Given the description of an element on the screen output the (x, y) to click on. 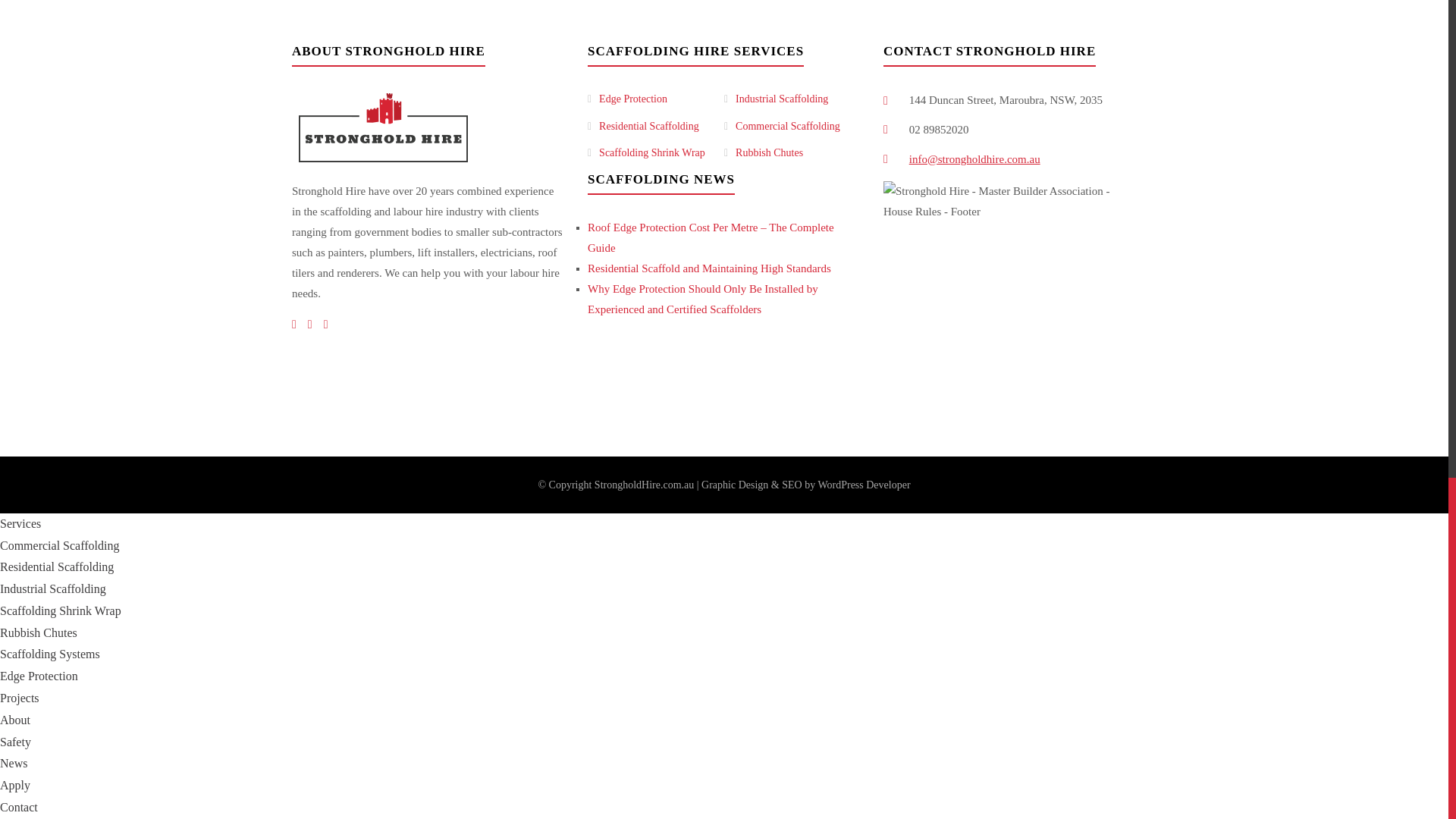
Rubbish Chutes (769, 152)
Industrial Scaffolding (781, 98)
Residential Scaffolding (648, 125)
Edge Protection (632, 98)
Graphic Design (734, 484)
StrongholdHire.com.au (644, 484)
Residential Scaffold and Maintaining High Standards (709, 268)
Scaffolding Shrink Wrap (651, 152)
Commercial Scaffolding (787, 125)
